Given the description of an element on the screen output the (x, y) to click on. 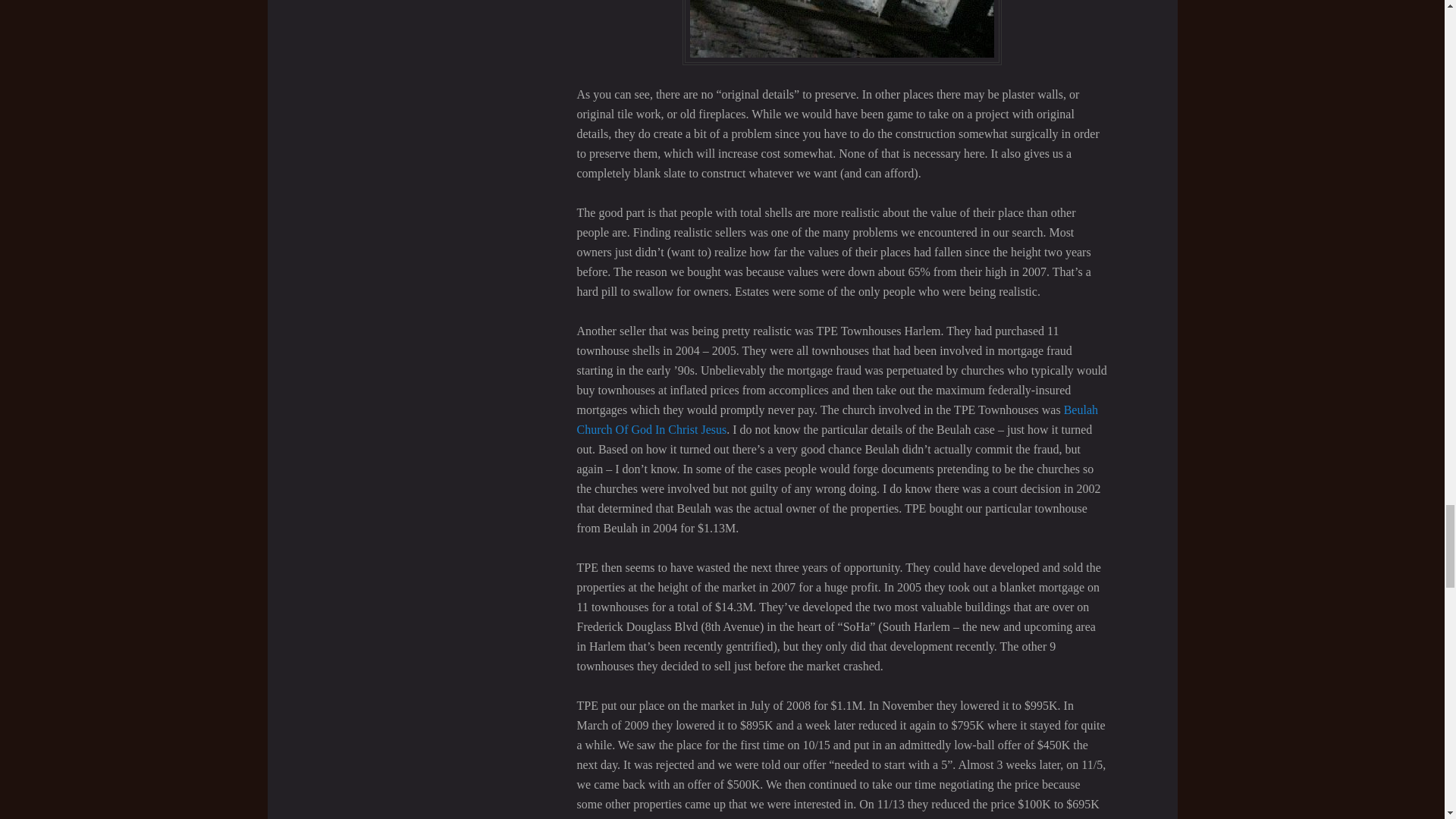
Beulah Church Of God In Christ Jesus (836, 419)
Interior of a gutted townhouse shell in Harlem (841, 32)
